Given the description of an element on the screen output the (x, y) to click on. 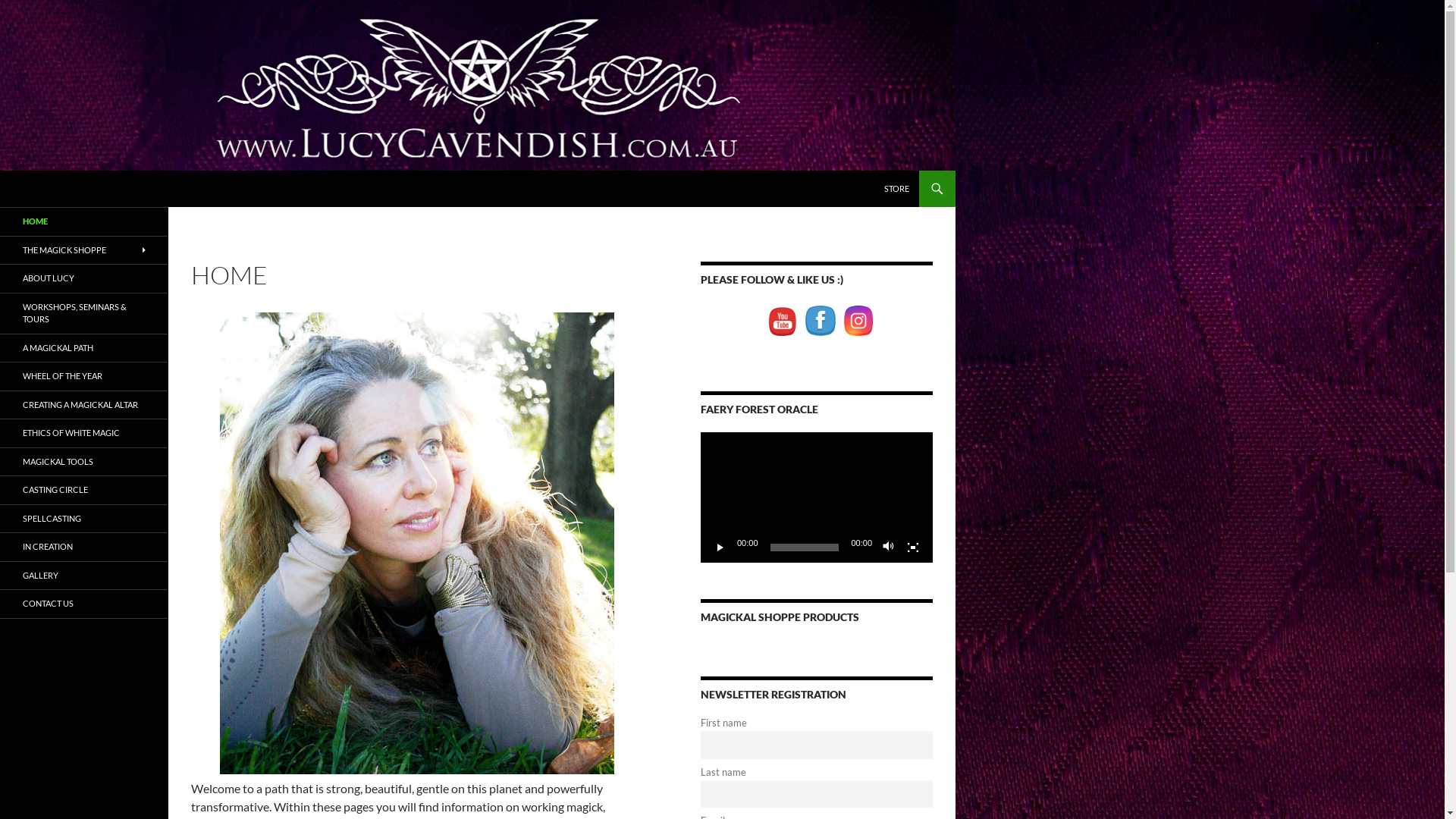
Instagram Element type: hover (858, 320)
WORKSHOPS, SEMINARS & TOURS Element type: text (84, 312)
GALLERY Element type: text (84, 575)
SKIP TO CONTENT Element type: text (883, 169)
ETHICS OF WHITE MAGIC Element type: text (84, 433)
WHEEL OF THE YEAR Element type: text (84, 376)
CREATING A MAGICKAL ALTAR Element type: text (84, 405)
ABOUT LUCY Element type: text (84, 278)
Play Element type: hover (720, 547)
THE MAGICK SHOPPE Element type: text (84, 250)
HOME Element type: text (84, 221)
Facebook Element type: hover (820, 320)
SPELLCASTING Element type: text (84, 519)
IN CREATION Element type: text (84, 547)
Mute Element type: hover (888, 547)
CONTACT US Element type: text (84, 603)
Search Element type: text (3, 169)
CASTING CIRCLE Element type: text (84, 490)
MAGICKAL TOOLS Element type: text (84, 461)
A MAGICKAL PATH Element type: text (84, 347)
Fullscreen Element type: hover (912, 547)
STORE Element type: text (896, 188)
YouTube Element type: hover (782, 320)
